Given the description of an element on the screen output the (x, y) to click on. 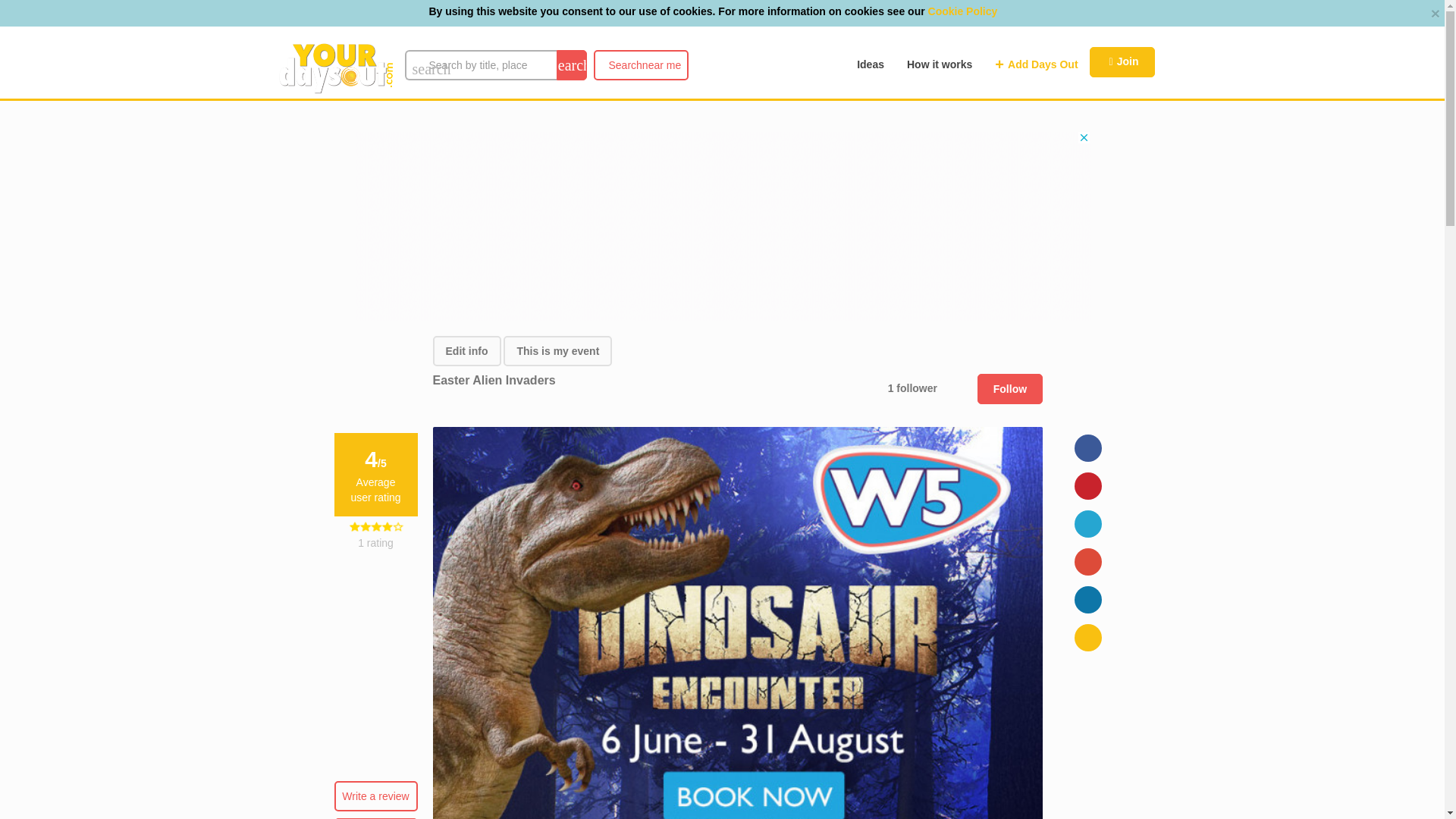
Write a review (374, 796)
This is my event (557, 350)
search (571, 64)
Cookie Policy (640, 64)
Ideas (962, 10)
How it works (870, 64)
Join (939, 64)
Read reviews (1121, 61)
Follow (466, 350)
